Given the description of an element on the screen output the (x, y) to click on. 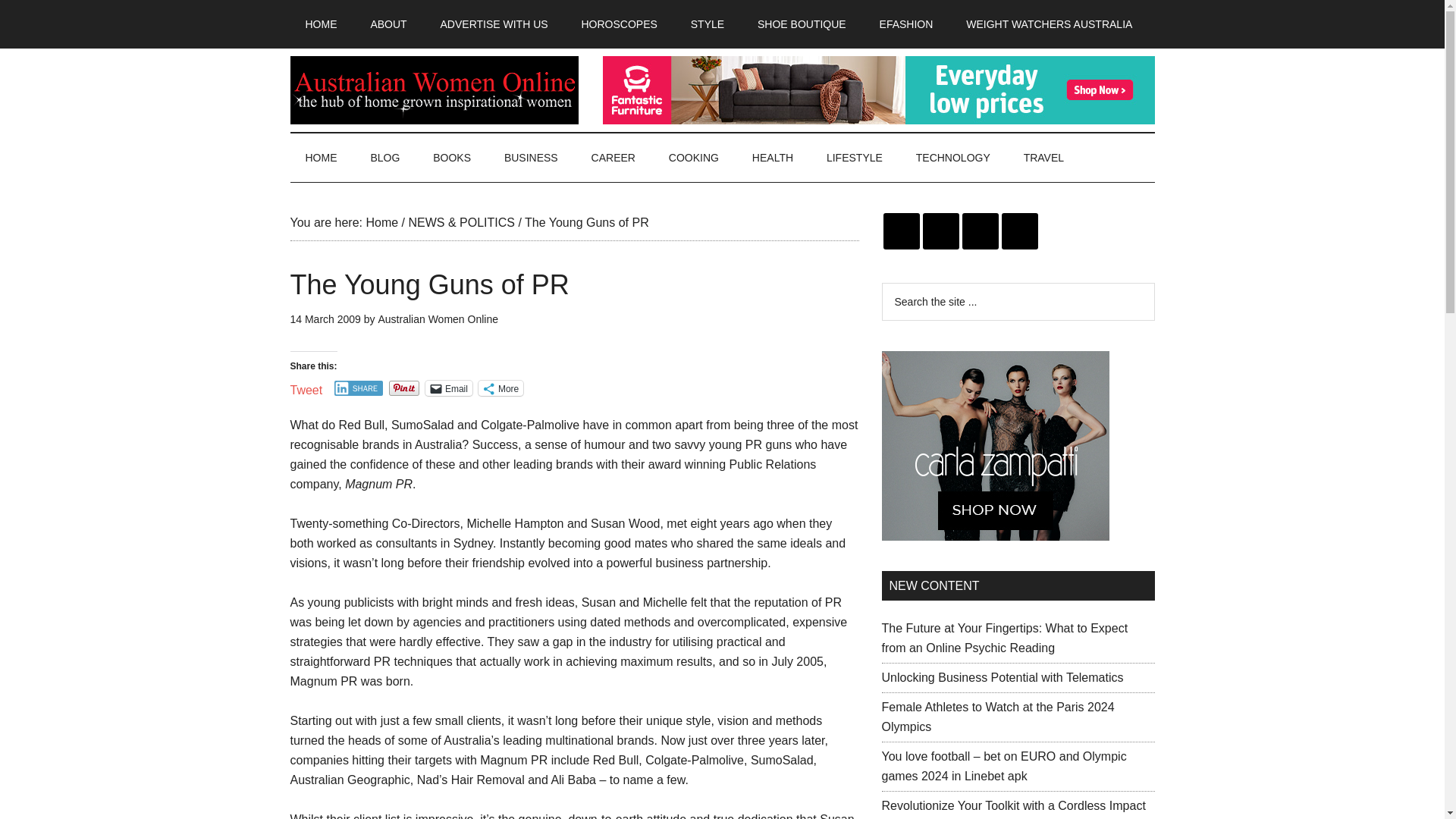
Home (381, 222)
Australian Women Online (433, 90)
Australian Women Online (437, 318)
Tweet (305, 386)
BLOG (384, 157)
EFASHION (906, 24)
BOOKS (451, 157)
HOME (320, 24)
HOROSCOPES (618, 24)
CAREER (613, 157)
STYLE (707, 24)
WEIGHT WATCHERS AUSTRALIA (1048, 24)
SHOE BOUTIQUE (801, 24)
COOKING (693, 157)
